Given the description of an element on the screen output the (x, y) to click on. 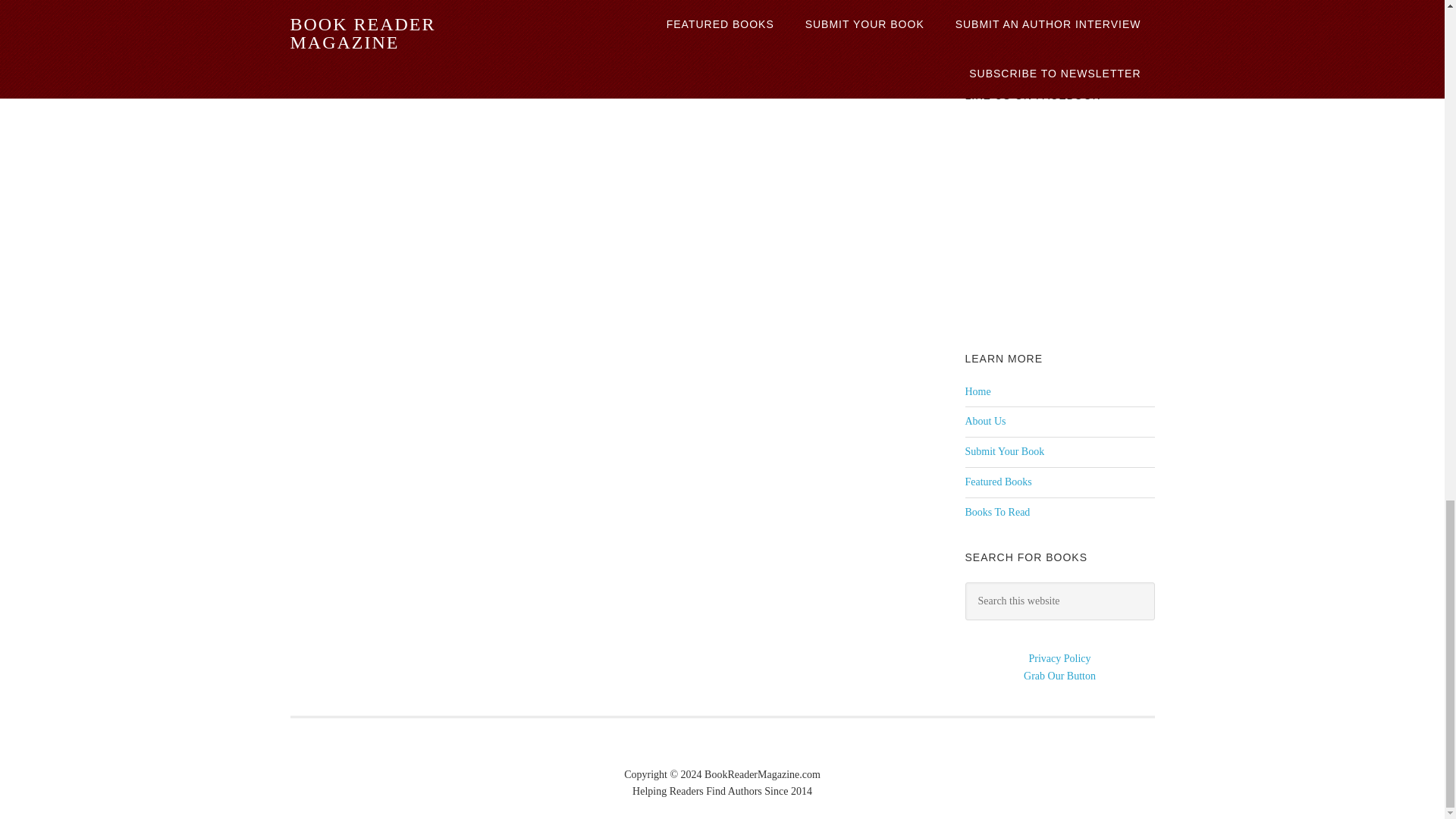
Facebook (978, 44)
